Given the description of an element on the screen output the (x, y) to click on. 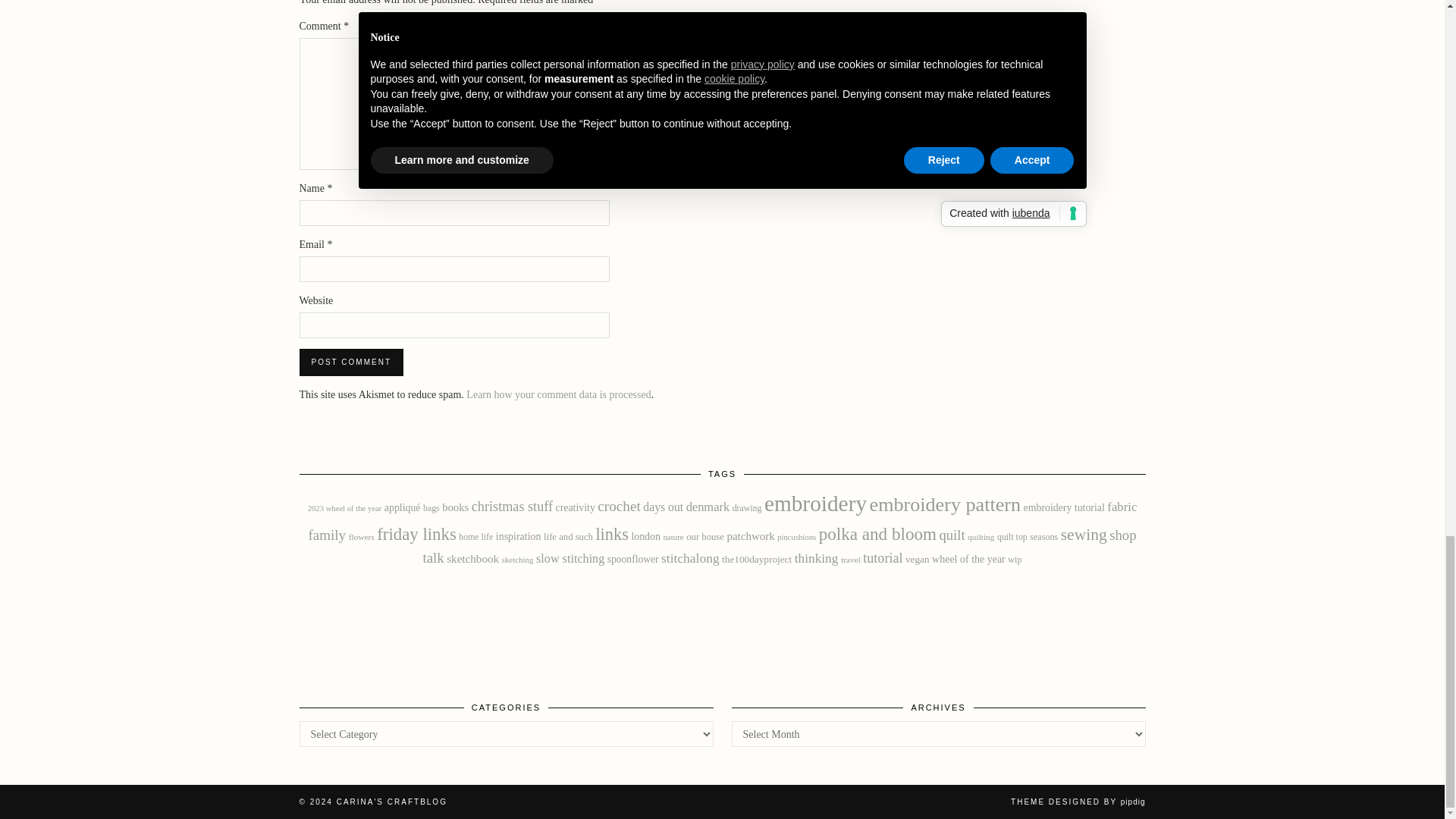
Post Comment (350, 361)
